Given the description of an element on the screen output the (x, y) to click on. 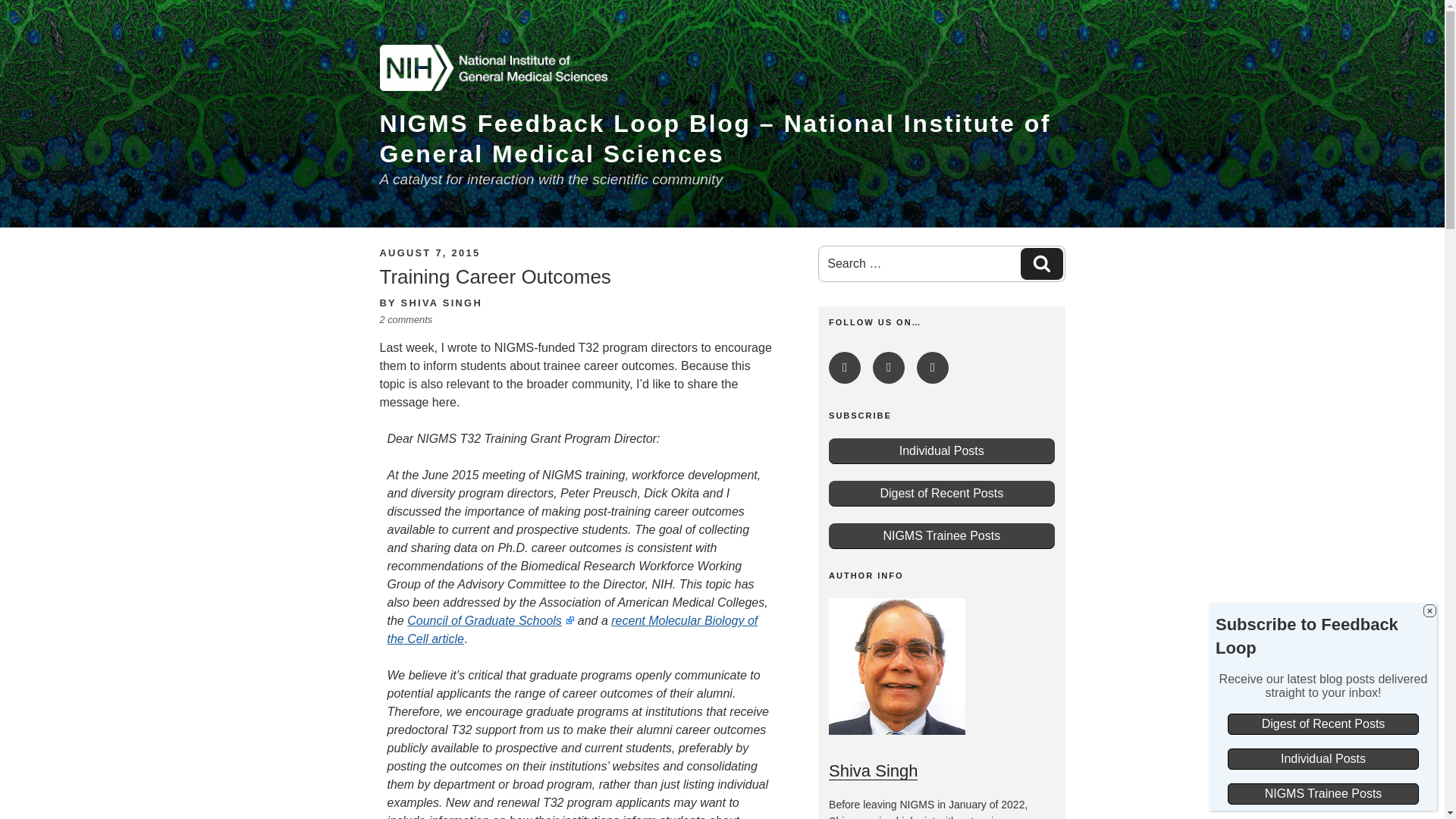
Digest of Recent Posts (941, 493)
NIGMS Trainee Posts (941, 535)
Search Icon (1041, 262)
Posts by Shiva Singh (441, 302)
SHIVA SINGH (441, 302)
Individual Posts (941, 451)
Youtube (1041, 264)
AUGUST 7, 2015 (933, 368)
recent Molecular Biology of the Cell article (429, 252)
Instagram (572, 629)
Linkedin (844, 368)
Council of Graduate Schools (888, 368)
Shiva Singh (484, 620)
